Given the description of an element on the screen output the (x, y) to click on. 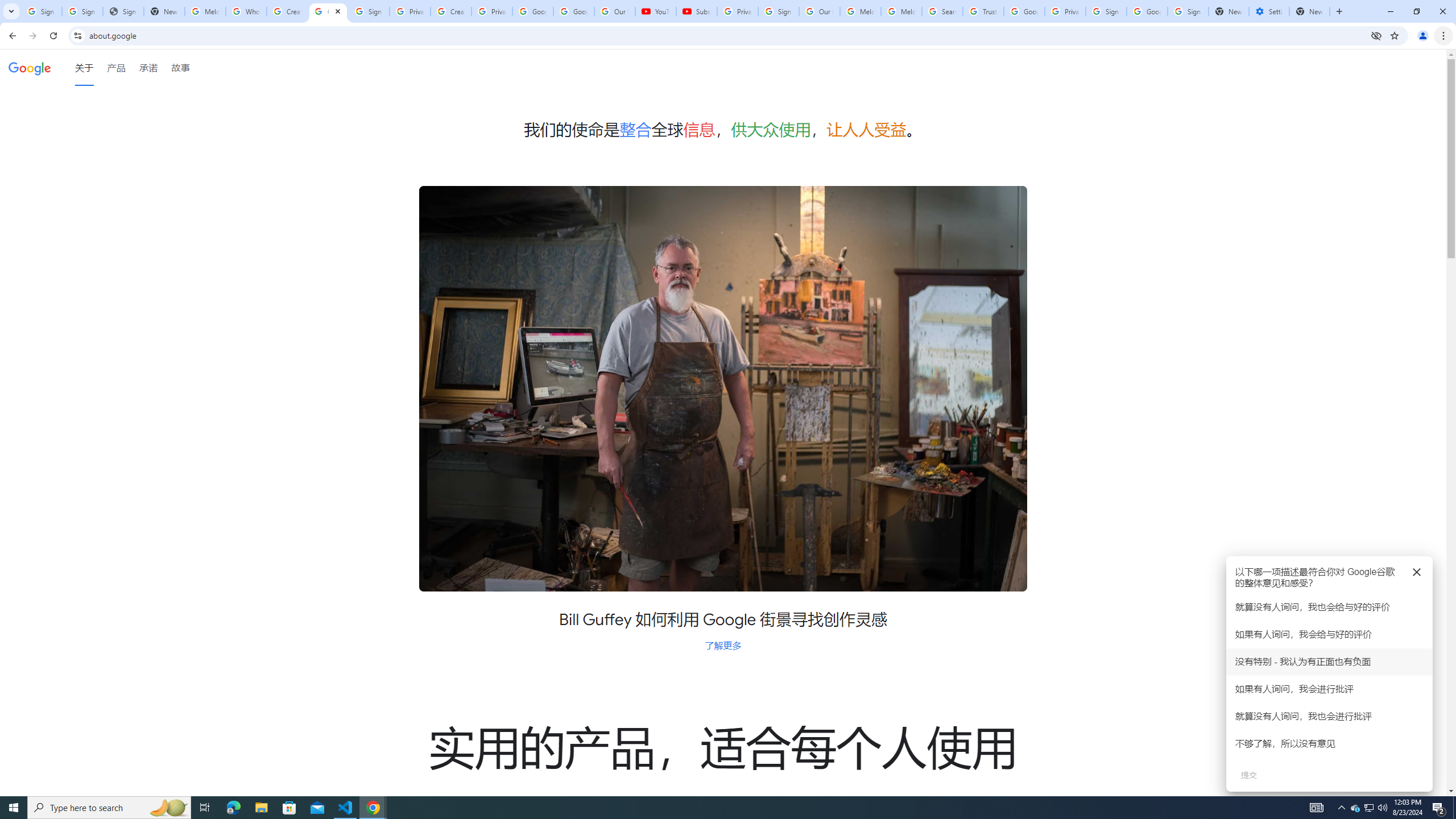
Subscriptions - YouTube (696, 11)
Sign in - Google Accounts (1105, 11)
Google (29, 67)
